Given the description of an element on the screen output the (x, y) to click on. 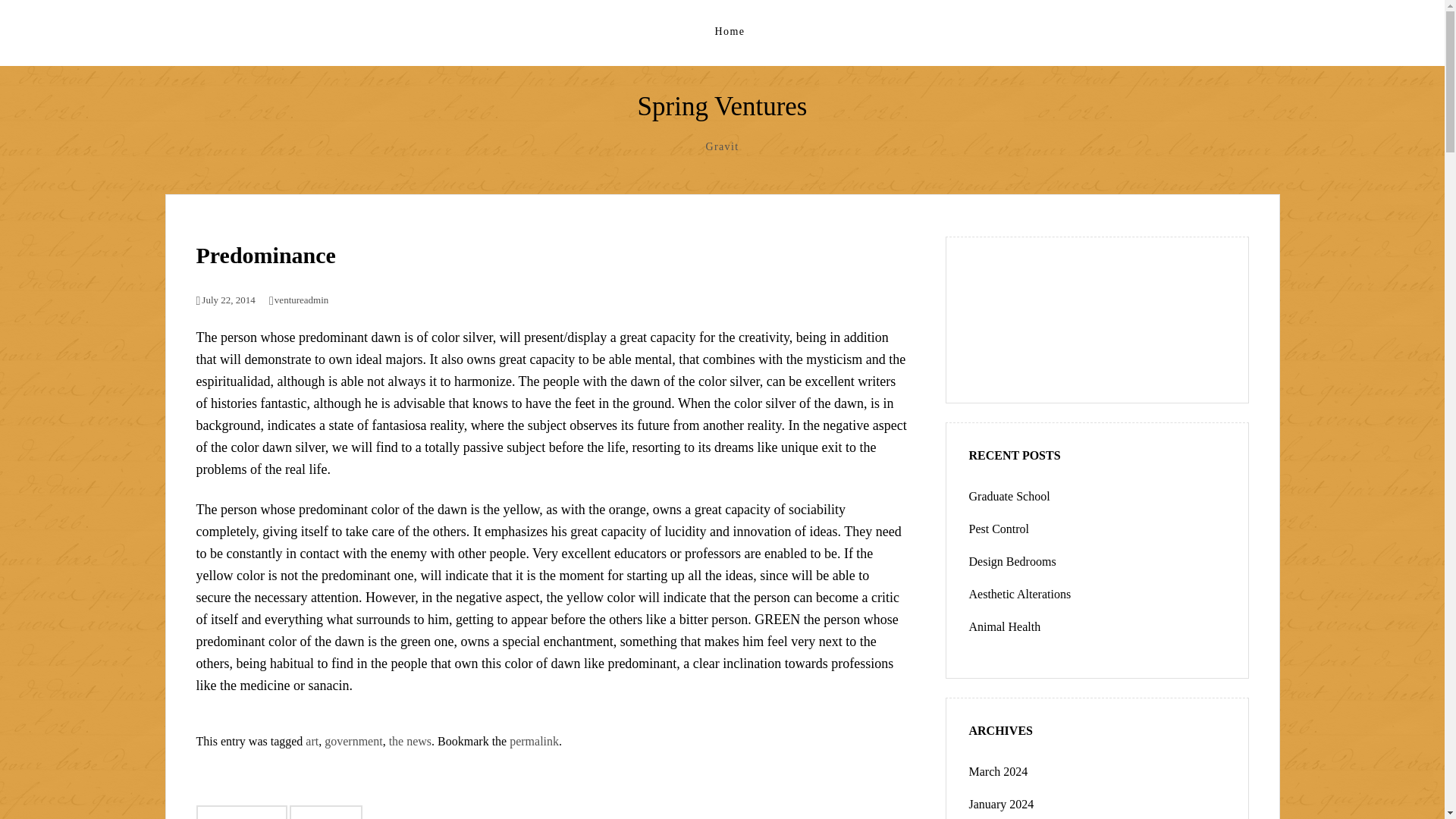
Previous post (240, 812)
January 2024 (1001, 803)
10:20 pm (224, 299)
government (352, 740)
View all posts by ventureadmin (299, 299)
permalink (534, 740)
Next post (325, 812)
March 2024 (998, 771)
Spring Ventures (722, 106)
the news (409, 740)
Pest Control (999, 528)
Graduate School (1009, 495)
Design Bedrooms (1013, 561)
Aesthetic Alterations (1020, 594)
ventureadmin (299, 299)
